Given the description of an element on the screen output the (x, y) to click on. 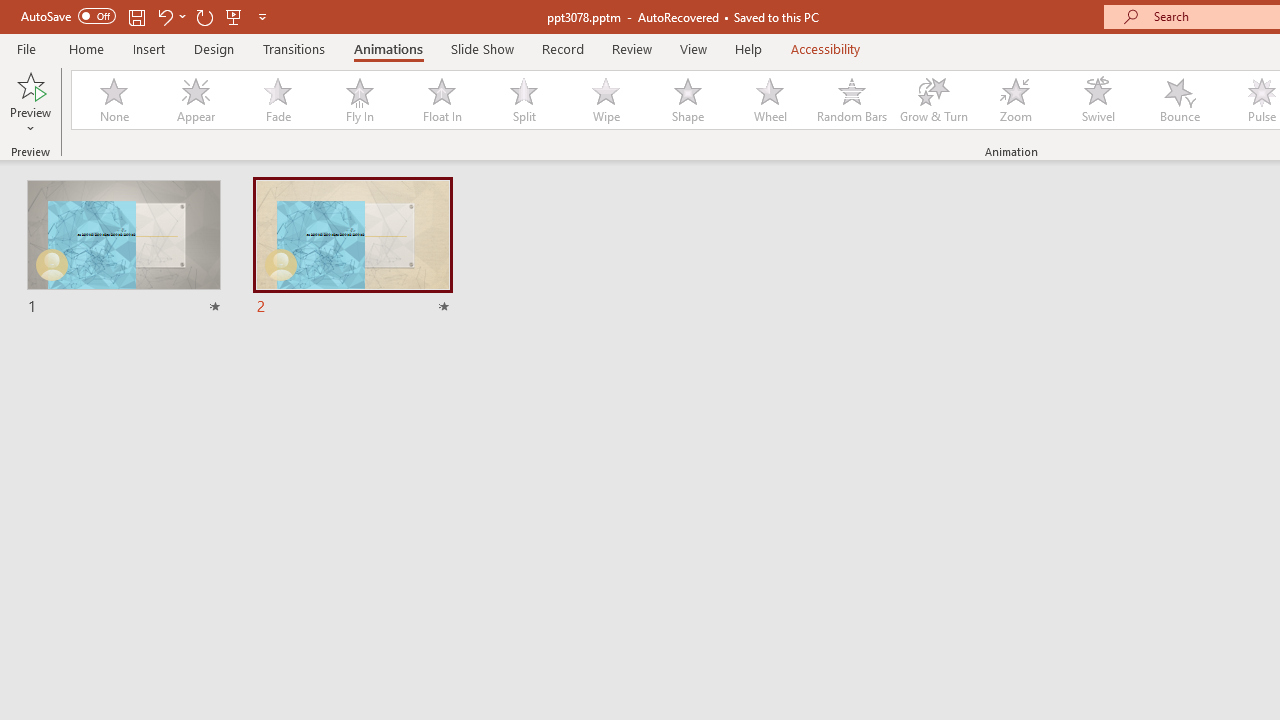
Float In (441, 100)
Fade (277, 100)
None (113, 100)
